Given the description of an element on the screen output the (x, y) to click on. 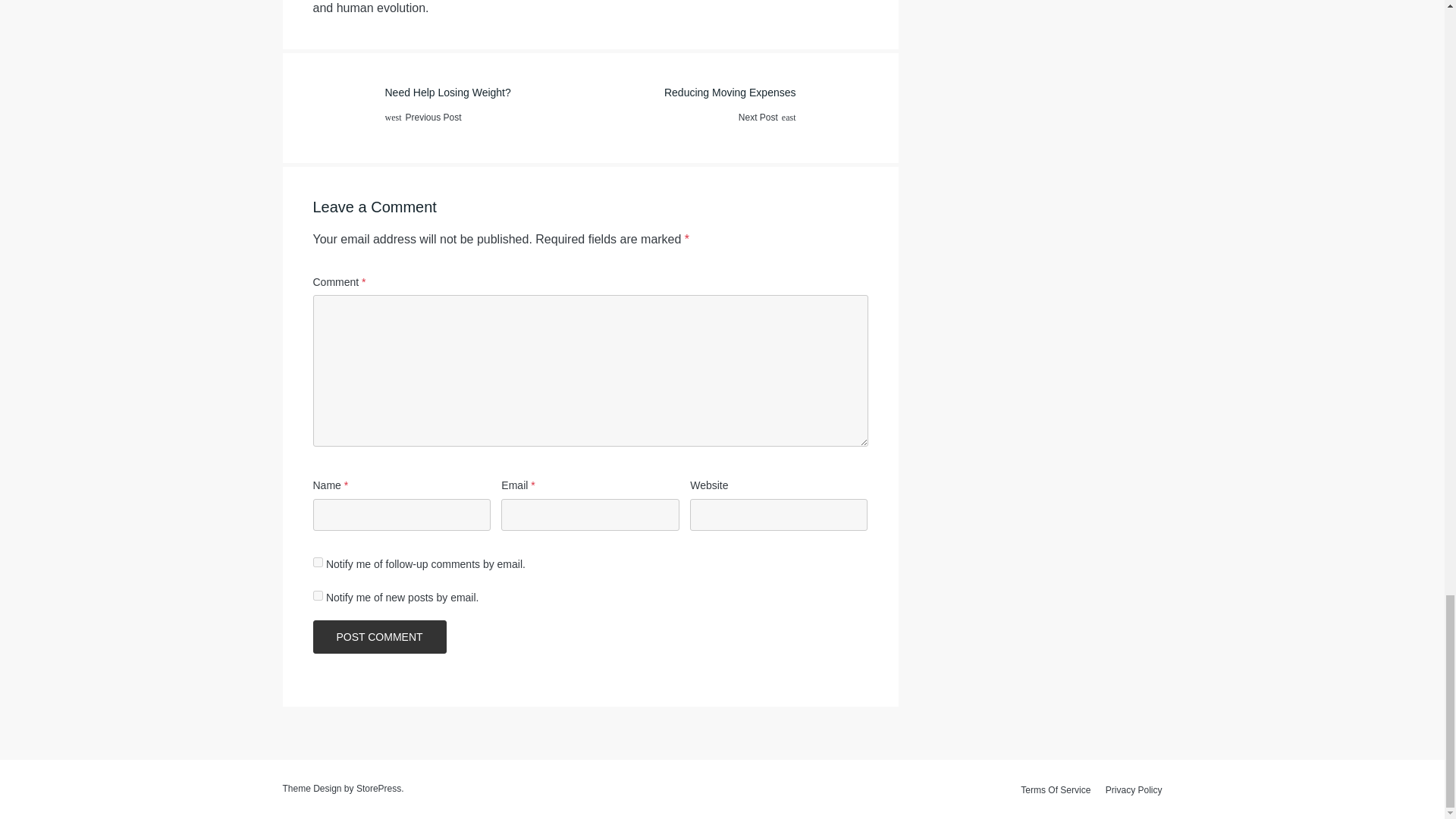
subscribe (317, 595)
Post Comment (379, 636)
Post Comment (728, 107)
subscribe (451, 107)
